Given the description of an element on the screen output the (x, y) to click on. 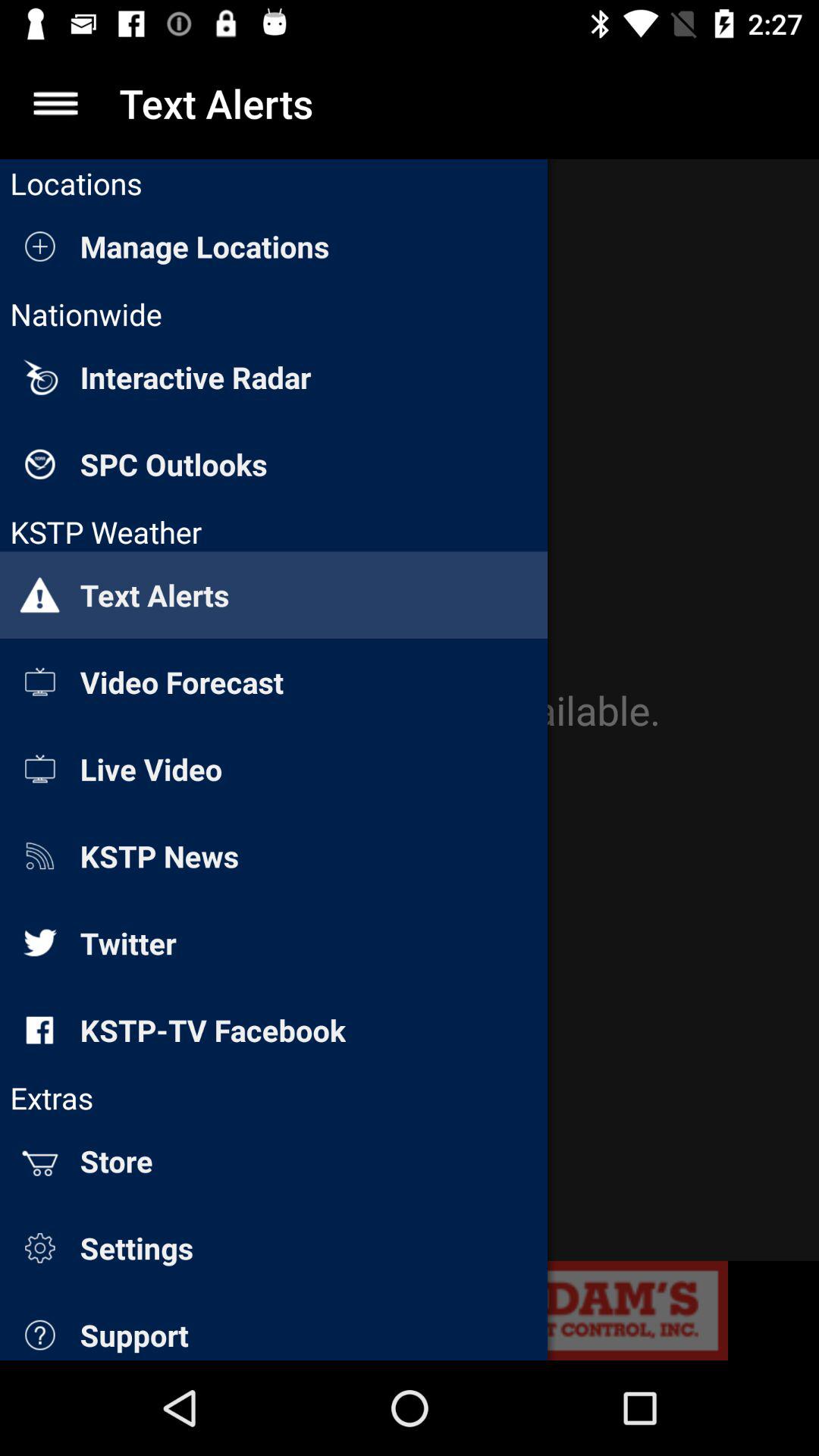
close menu (55, 103)
